Given the description of an element on the screen output the (x, y) to click on. 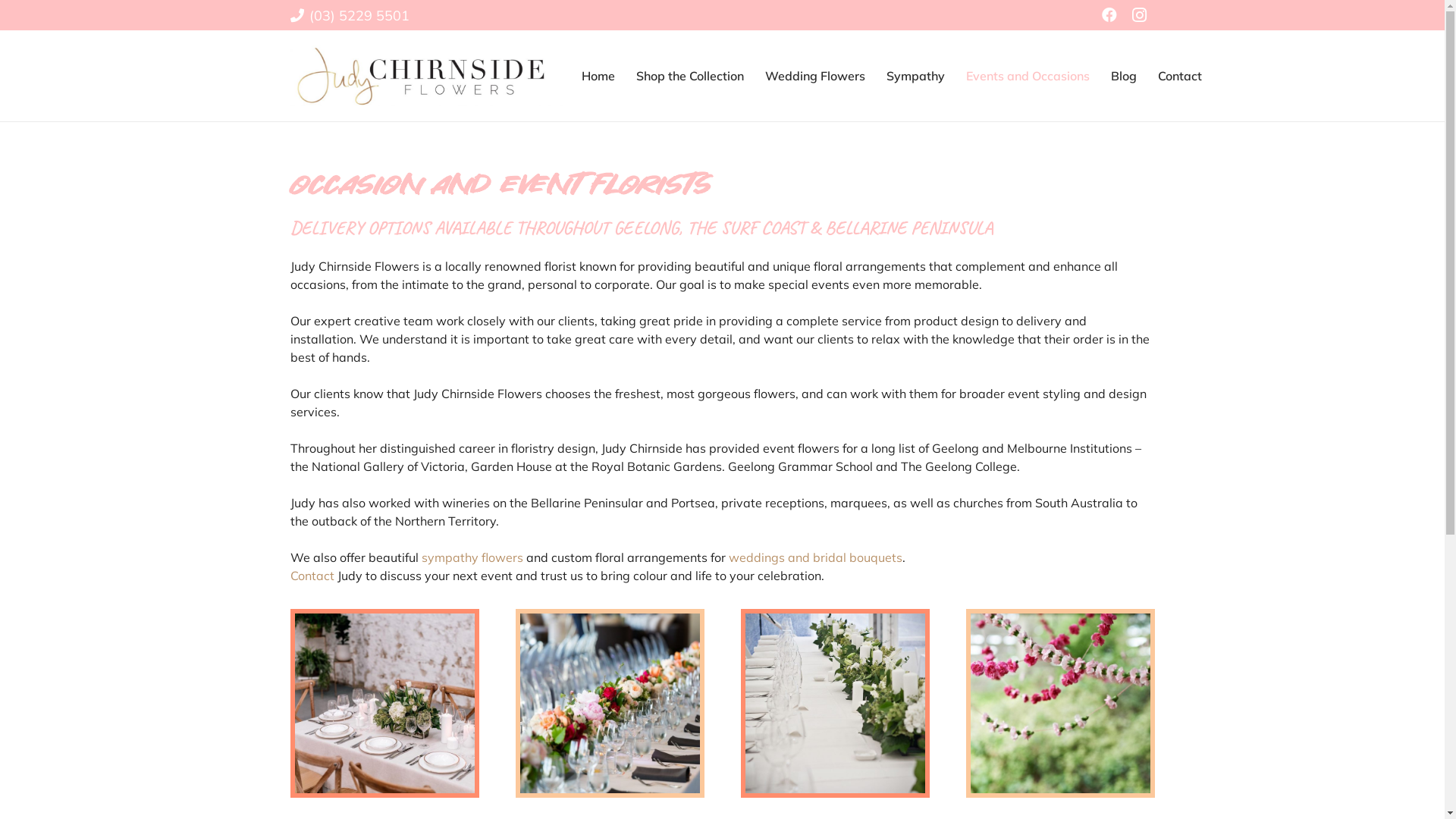
Facebook Element type: hover (1108, 15)
Blog Element type: text (1123, 75)
Contact Element type: text (311, 575)
weddings and bridal bouquets Element type: text (814, 556)
Wedding Flowers Element type: text (814, 75)
Events and Occasions Element type: text (1027, 75)
(03) 5229 5501 Element type: text (348, 14)
Sympathy Element type: text (915, 75)
Contact Element type: text (1179, 75)
Shop the Collection Element type: text (689, 75)
Instagram Element type: hover (1138, 15)
Home Element type: text (598, 75)
sympathy flowers Element type: text (472, 556)
